Given the description of an element on the screen output the (x, y) to click on. 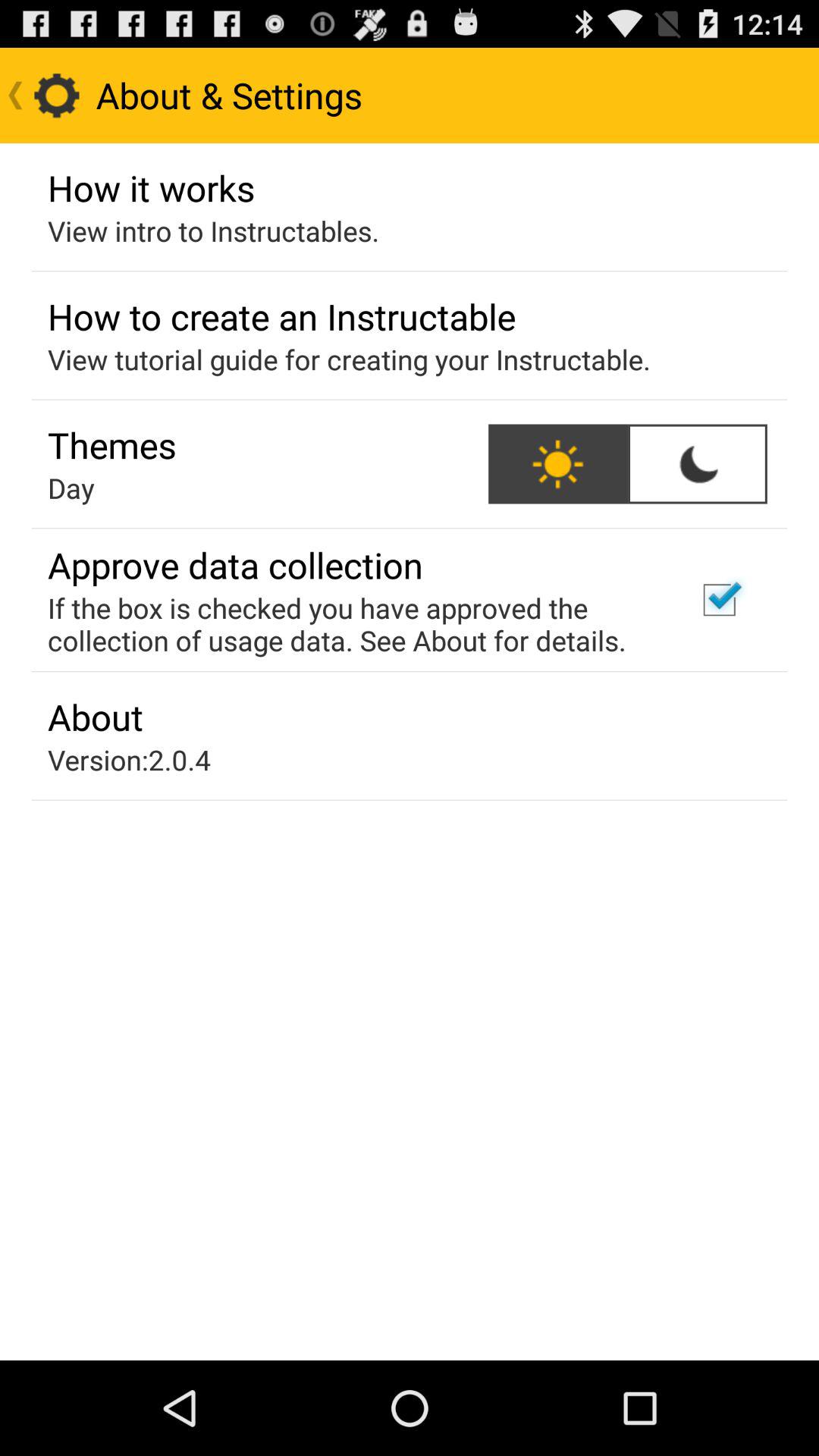
press item next to the if the box item (719, 599)
